Given the description of an element on the screen output the (x, y) to click on. 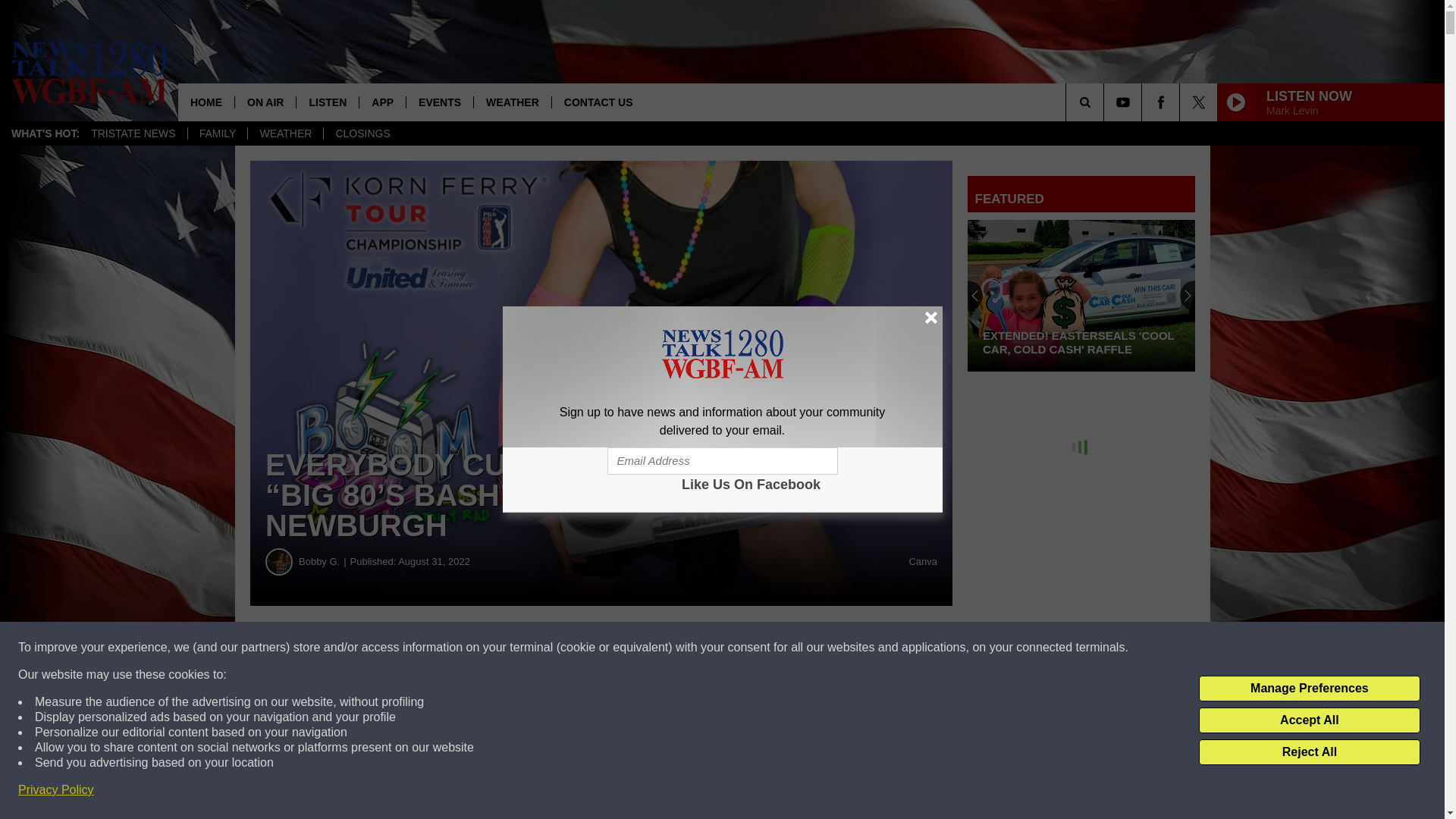
EVENTS (439, 102)
CLOSINGS (362, 133)
SEARCH (1106, 102)
Manage Preferences (1309, 688)
Reject All (1309, 751)
WEATHER (285, 133)
ON AIR (264, 102)
TRISTATE NEWS (133, 133)
FAMILY (217, 133)
Share on Facebook (460, 647)
APP (382, 102)
Accept All (1309, 720)
Share on Twitter (741, 647)
CONTACT US (598, 102)
HOME (205, 102)
